Given the description of an element on the screen output the (x, y) to click on. 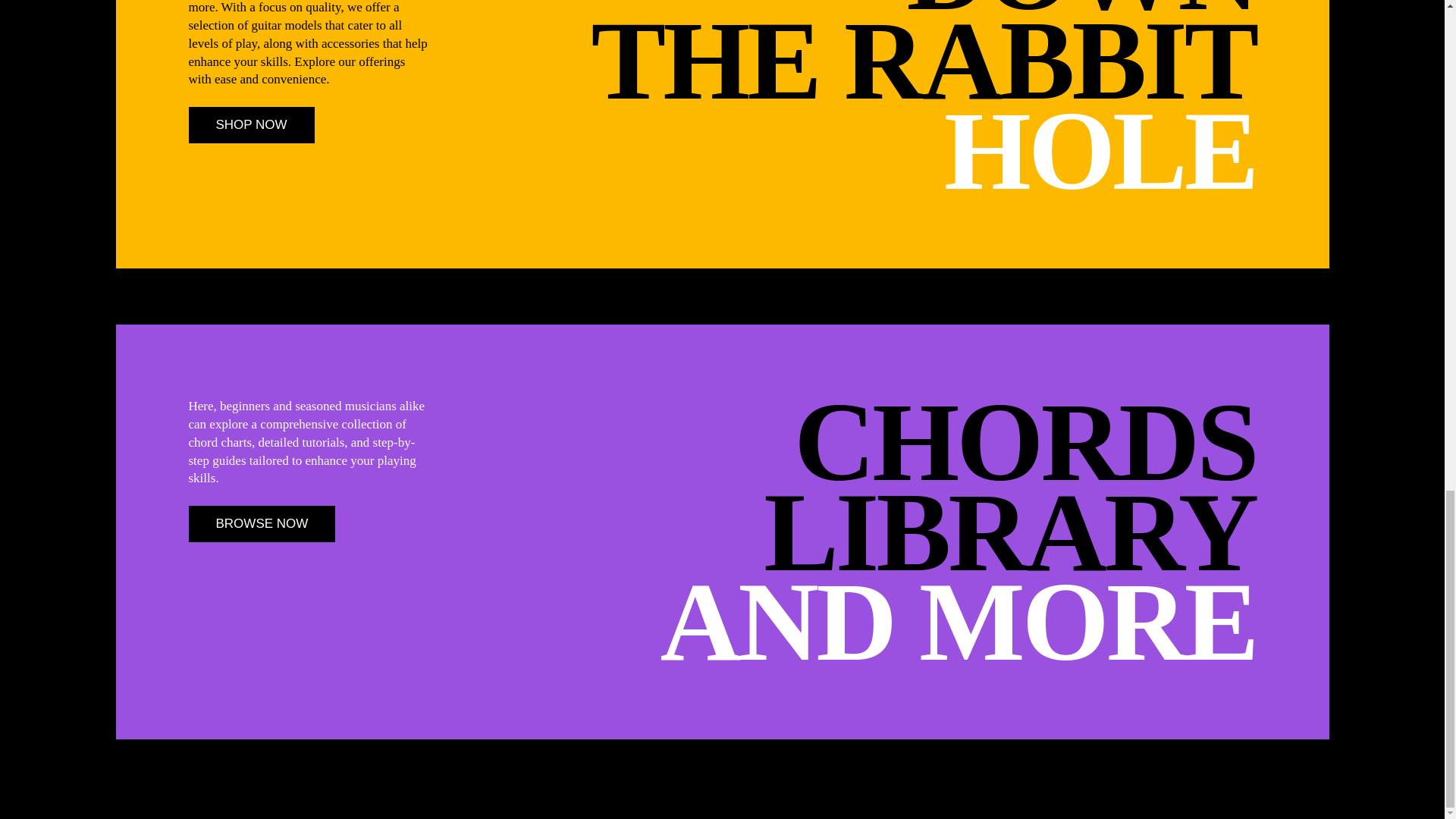
BROWSE NOW (260, 524)
SHOP NOW (250, 125)
